Given the description of an element on the screen output the (x, y) to click on. 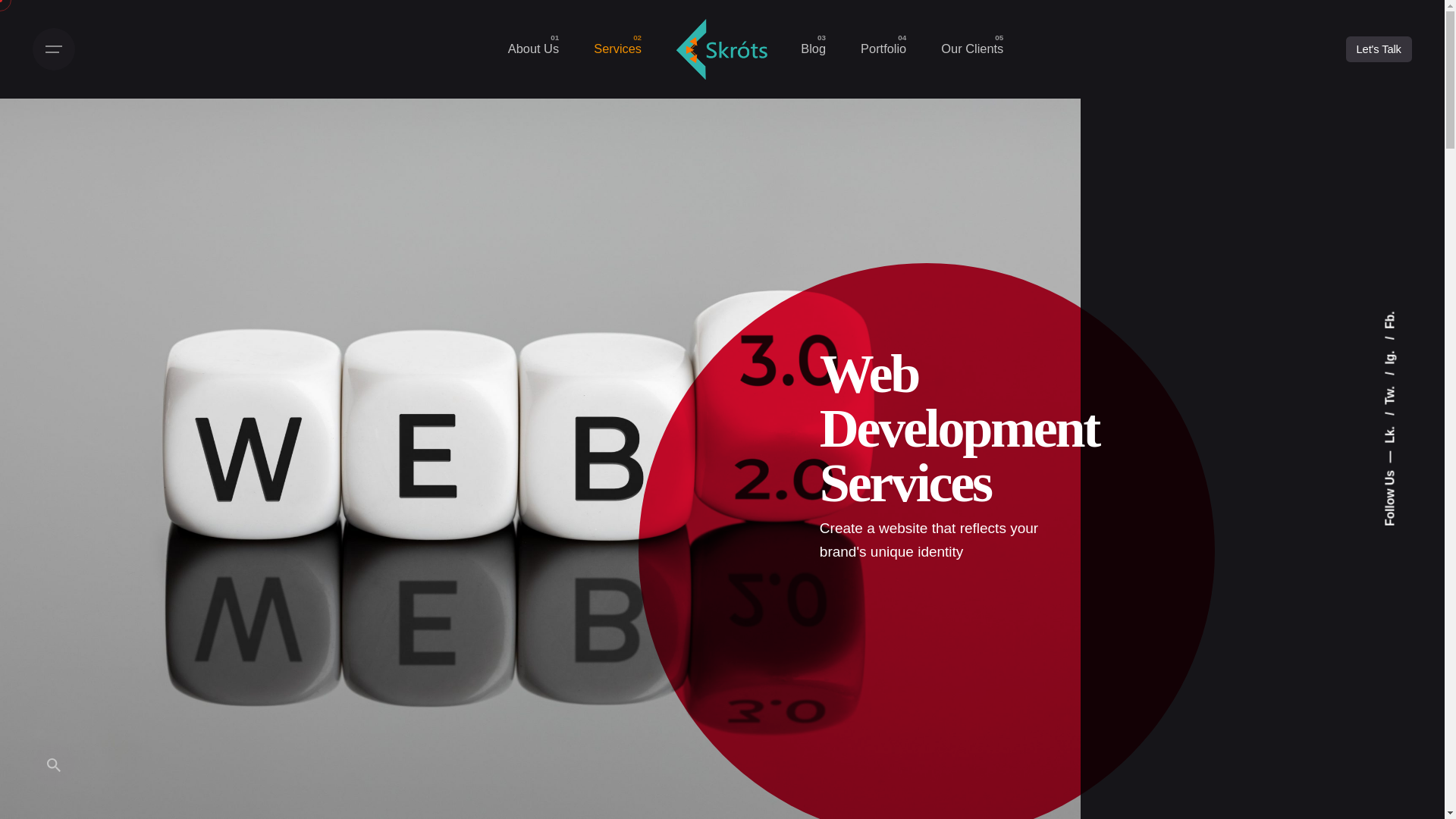
About Us (533, 49)
Blog (813, 49)
Ig. (1396, 342)
Fb. (1391, 317)
Tw. (1399, 377)
Services (617, 49)
Portfolio (883, 49)
Let's Talk (1378, 49)
Our Clients (971, 49)
Lk. (1398, 418)
